Given the description of an element on the screen output the (x, y) to click on. 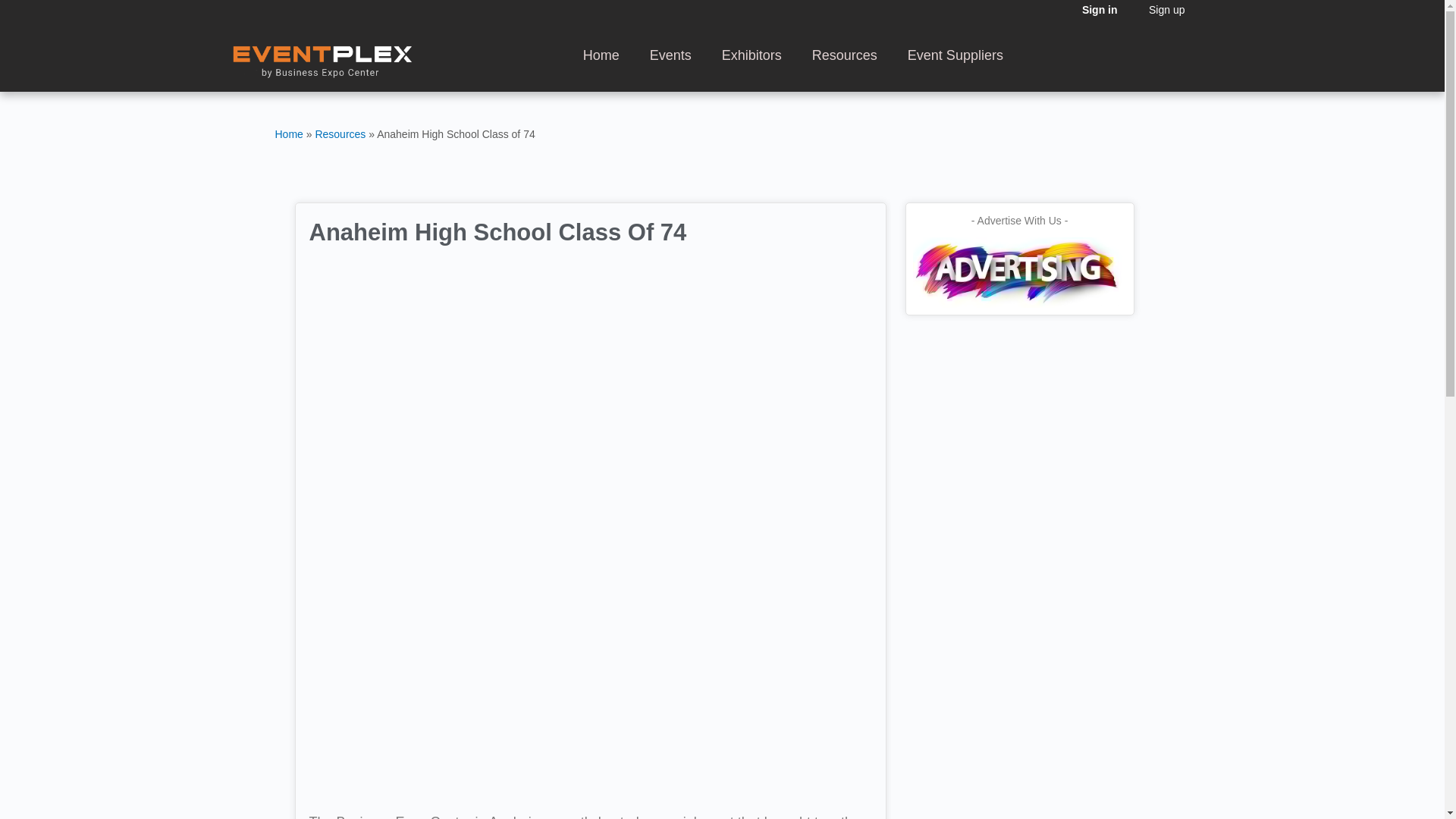
Sign in (1099, 13)
Exhibitors (751, 55)
Resources (339, 133)
Resources (844, 55)
Sign up (1166, 11)
Events (670, 55)
Event Suppliers (954, 55)
Home (288, 133)
Home (600, 55)
